Given the description of an element on the screen output the (x, y) to click on. 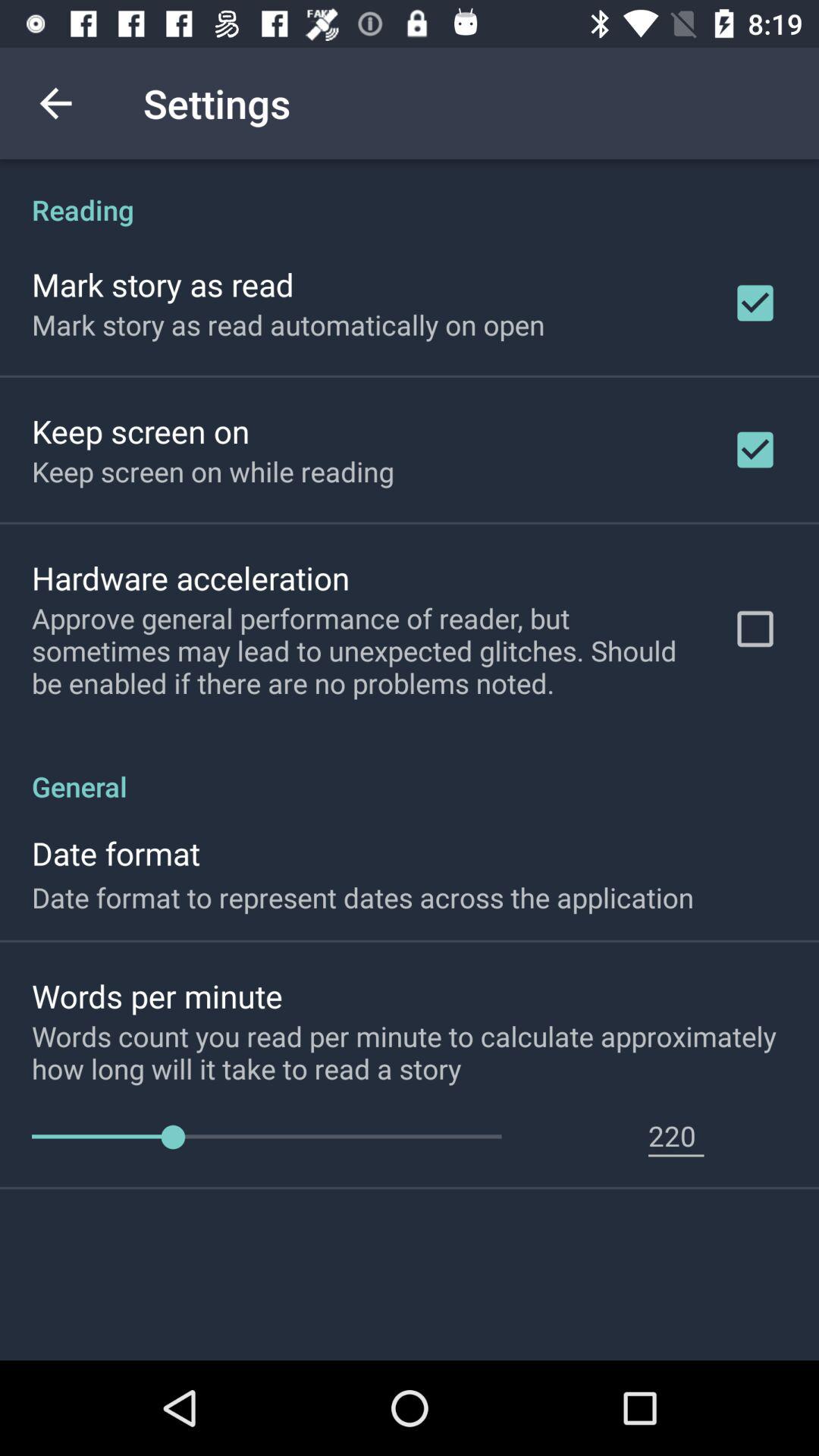
jump until the approve general performance (361, 650)
